Given the description of an element on the screen output the (x, y) to click on. 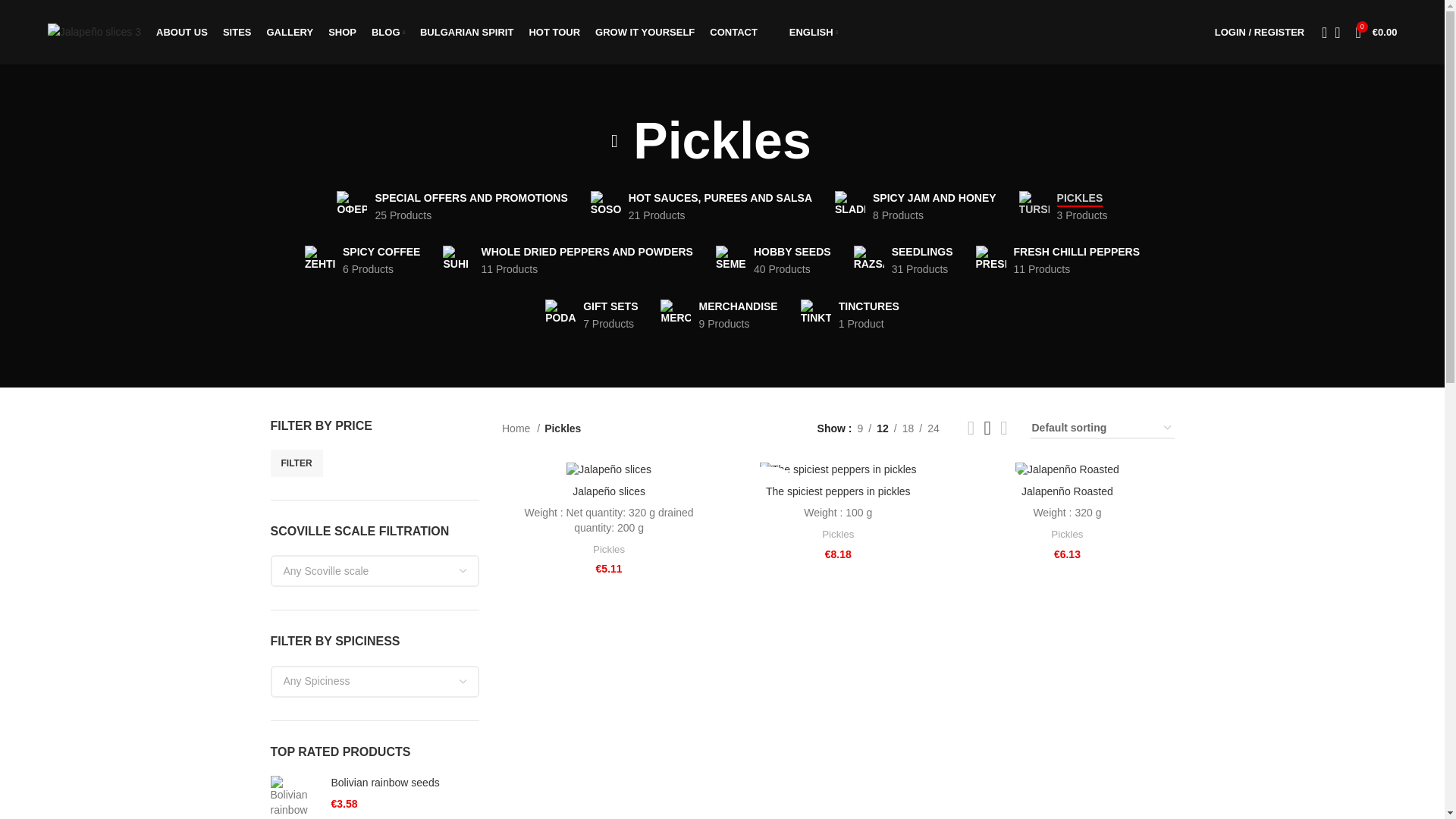
turshii (701, 206)
CONTACT (1034, 205)
suhi (733, 31)
semena (451, 206)
ABOUT US (457, 260)
English (730, 260)
BULGARIAN SPIRIT (181, 31)
My account (805, 31)
GROW IT YOURSELF (466, 31)
sladko (1063, 206)
BLOG (1259, 31)
oferti (644, 31)
